Given the description of an element on the screen output the (x, y) to click on. 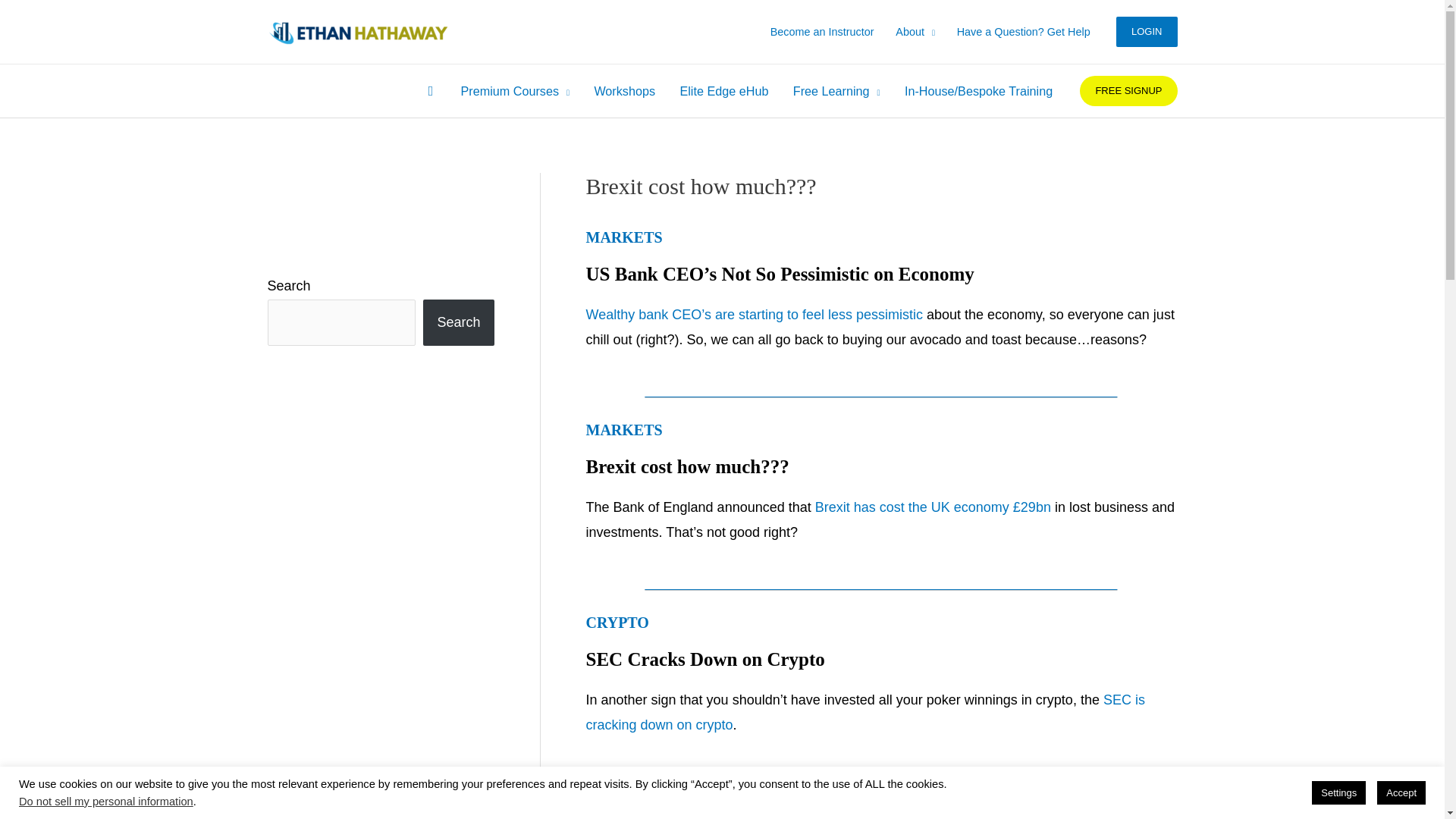
Have a Question? Get Help (1022, 31)
LOGIN (1146, 31)
About (914, 31)
Become an Instructor (821, 31)
Premium Courses (514, 90)
